Given the description of an element on the screen output the (x, y) to click on. 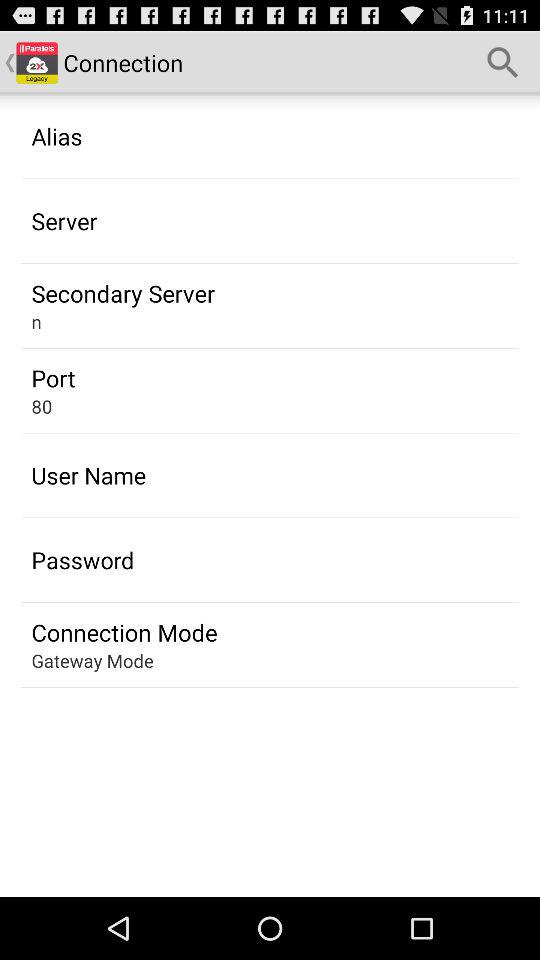
press the secondary server (122, 293)
